Given the description of an element on the screen output the (x, y) to click on. 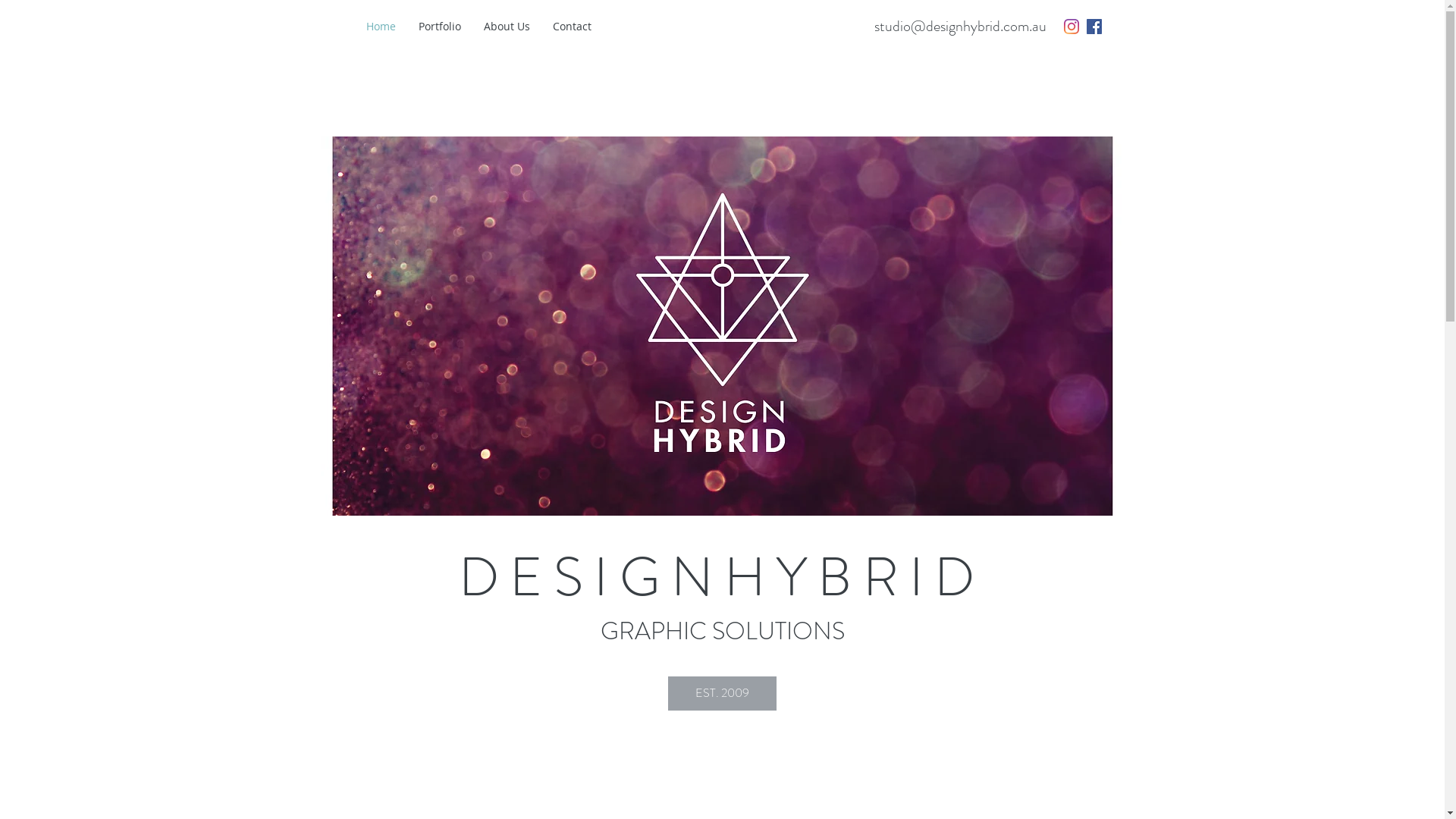
Home Element type: text (380, 26)
Contact Element type: text (571, 26)
About Us Element type: text (505, 26)
studio@designhybrid.com.au Element type: text (960, 26)
Portfolio Element type: text (438, 26)
